Given the description of an element on the screen output the (x, y) to click on. 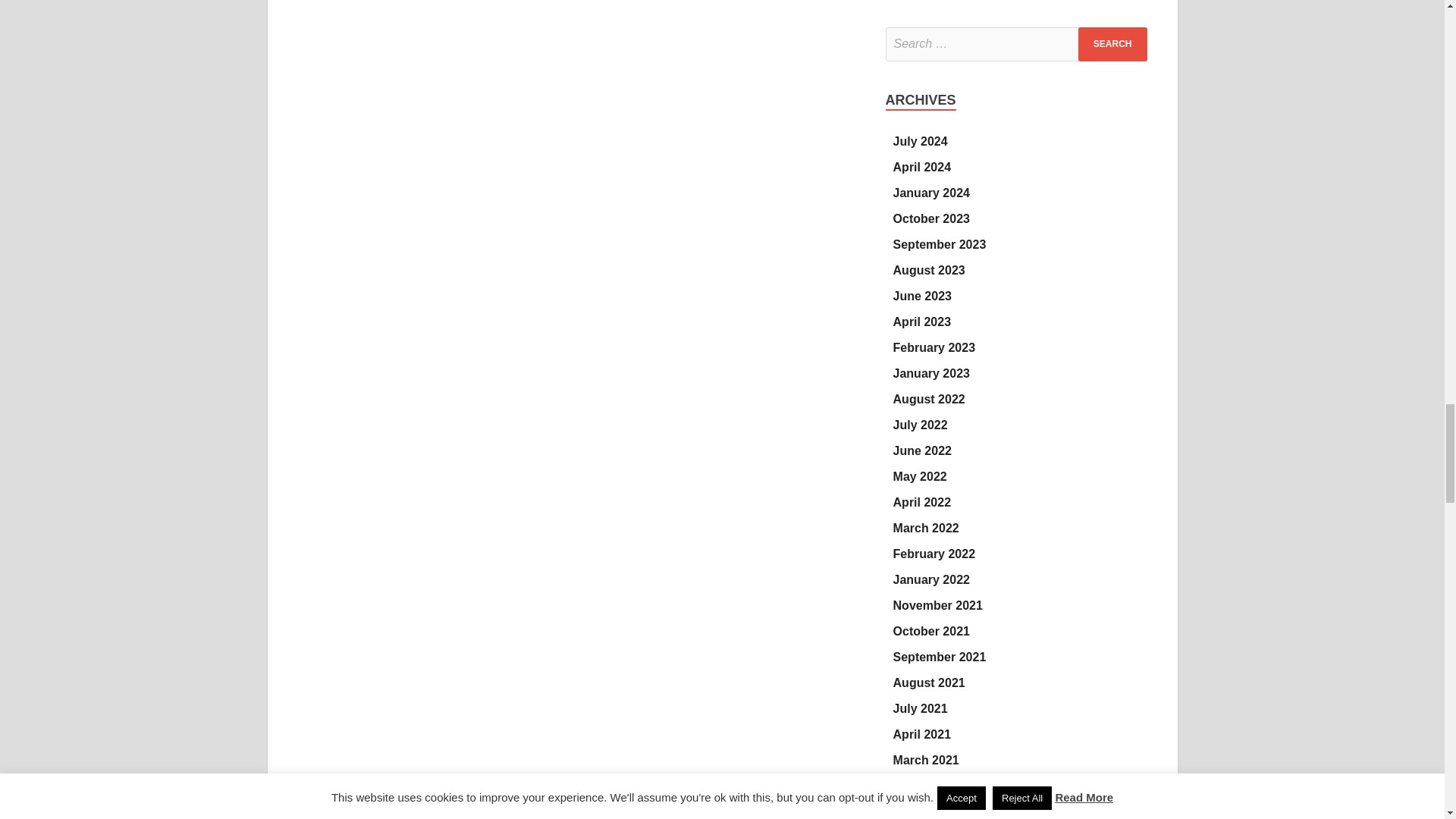
Search (1112, 44)
Search (1112, 44)
